Given the description of an element on the screen output the (x, y) to click on. 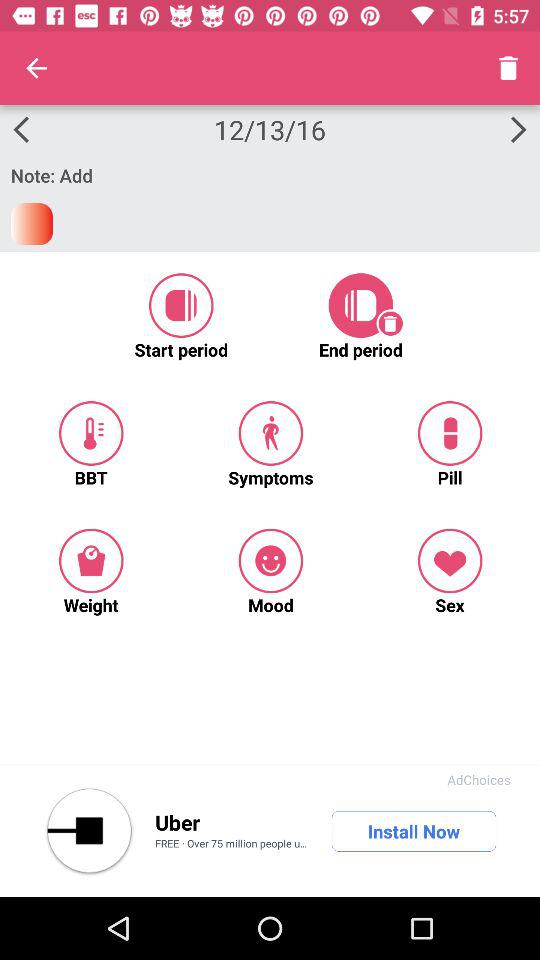
turn on icon to the left of install now icon (177, 822)
